Given the description of an element on the screen output the (x, y) to click on. 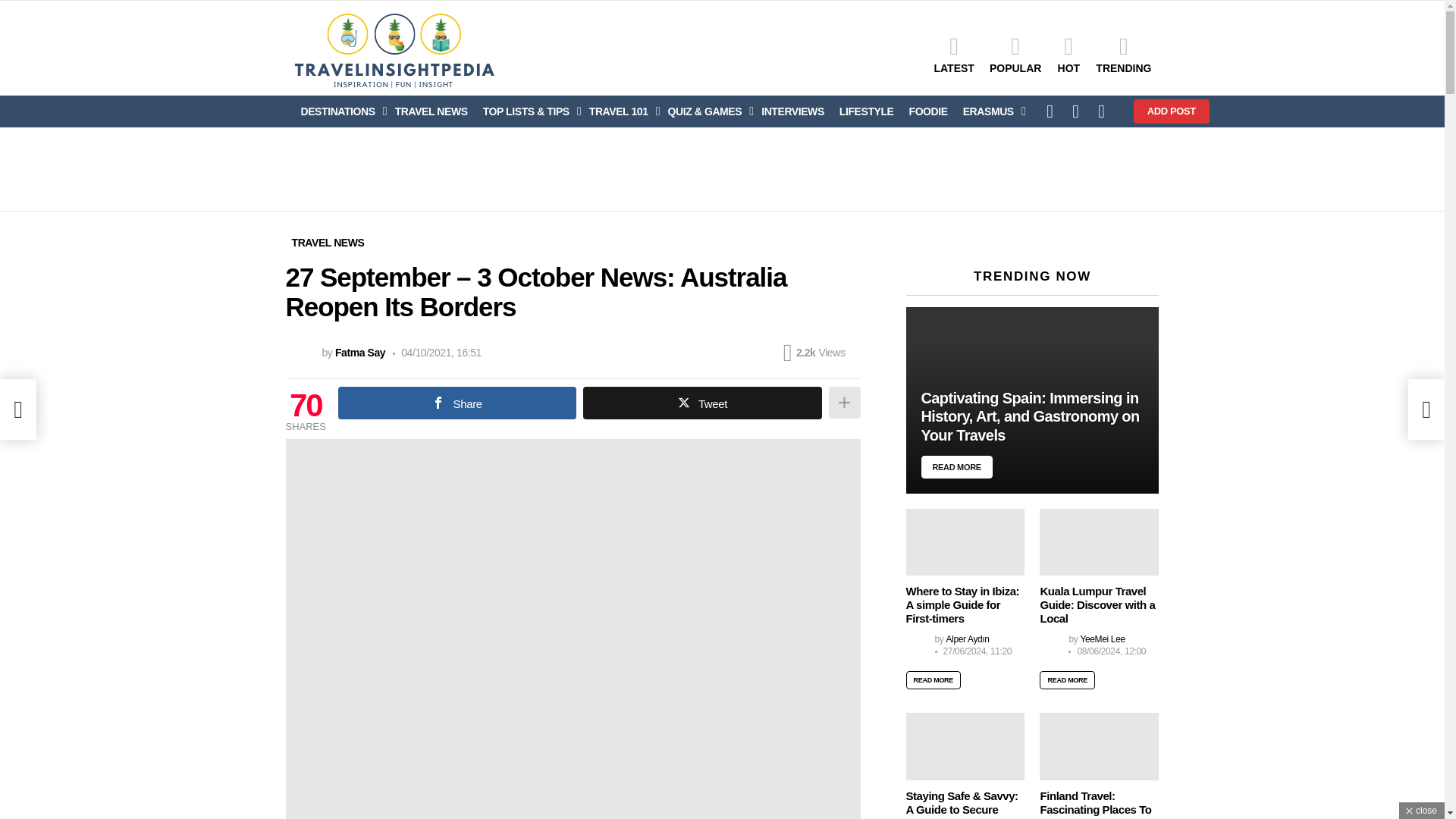
TRAVEL 101 (620, 110)
FOODIE (928, 110)
DESTINATIONS (339, 110)
Posts by Fatma Say (359, 352)
LATEST (953, 54)
HOT (1067, 54)
INTERVIEWS (792, 110)
POPULAR (1014, 54)
ERASMUS (990, 110)
TRAVEL NEWS (431, 110)
TRENDING (1122, 54)
ADD POST (1171, 111)
LIFESTYLE (866, 110)
